Given the description of an element on the screen output the (x, y) to click on. 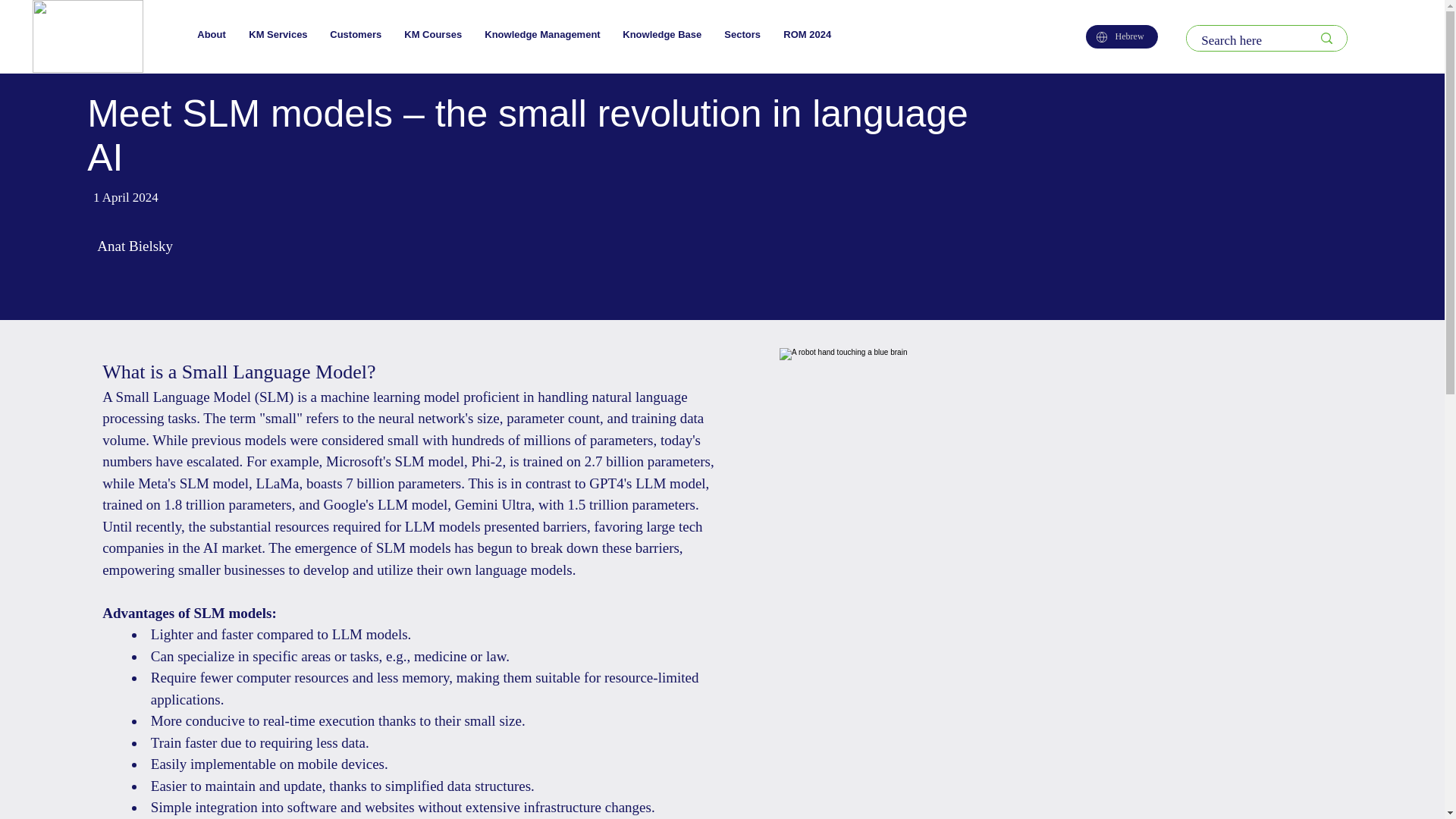
KM Courses (433, 34)
KM Services (277, 34)
Customers (355, 34)
Sectors (742, 34)
Hebrew (1121, 36)
